Given the description of an element on the screen output the (x, y) to click on. 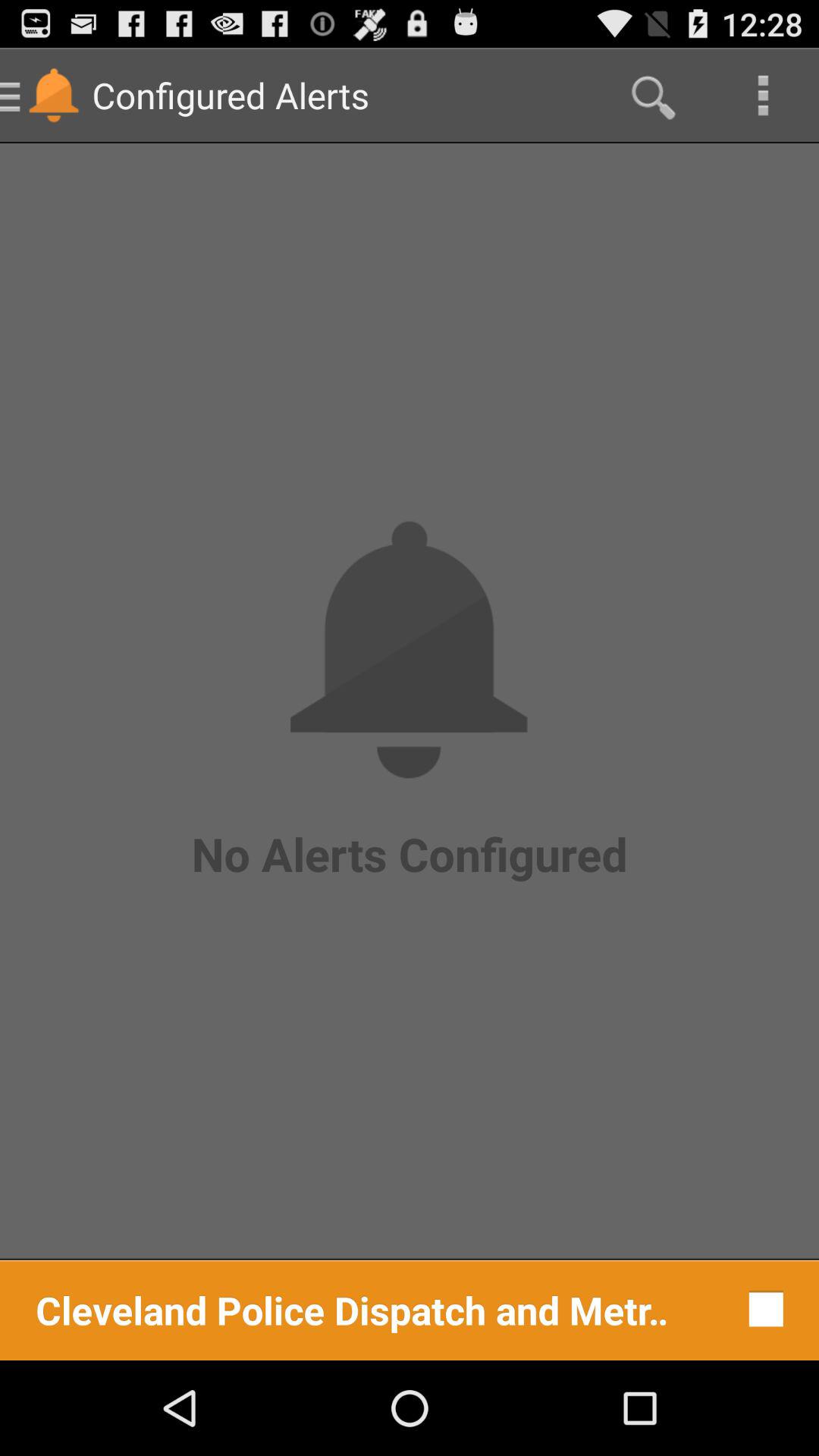
launch icon above no alerts configured app (763, 95)
